Given the description of an element on the screen output the (x, y) to click on. 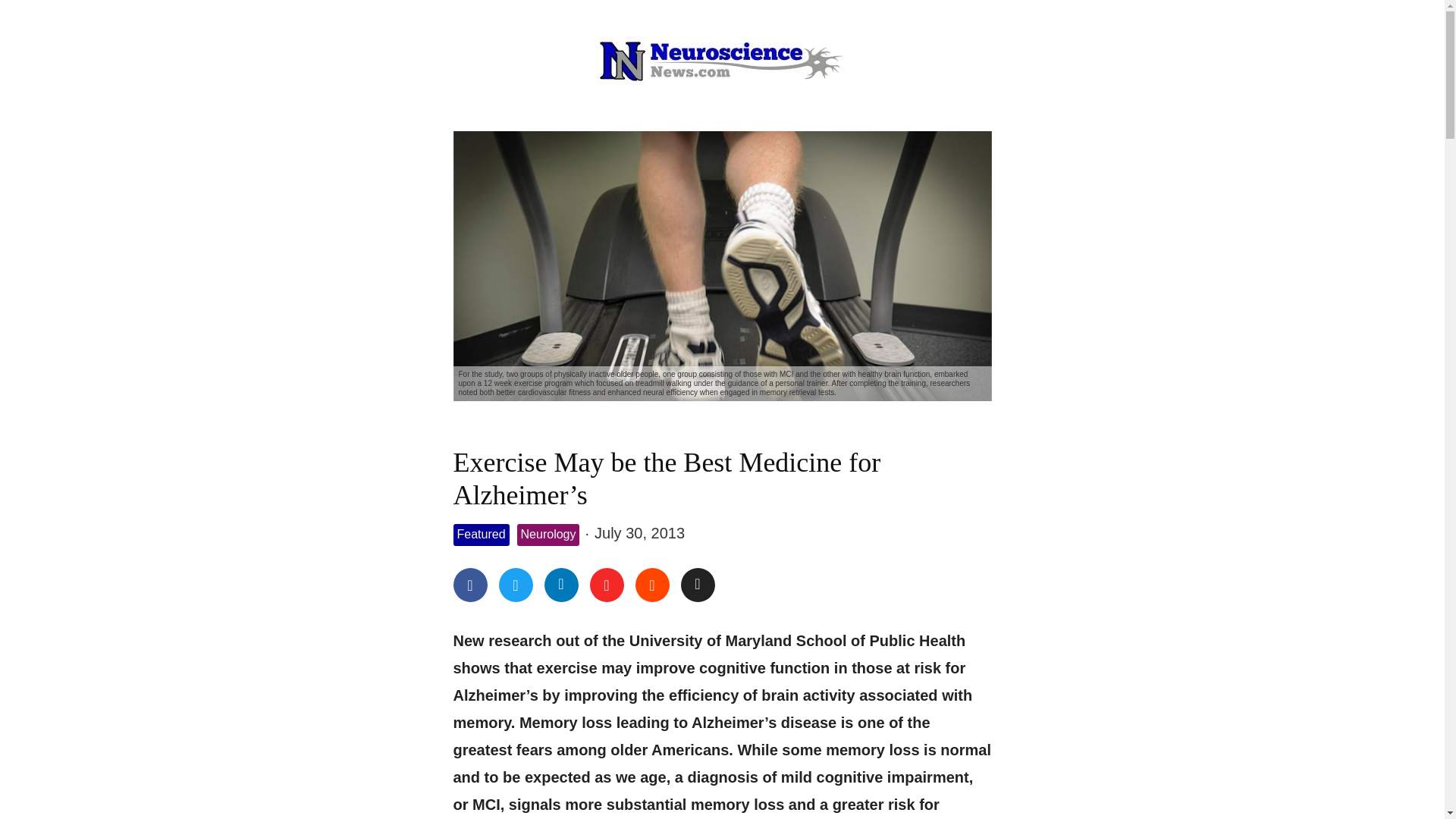
Featured (480, 535)
Neurology (547, 535)
